Given the description of an element on the screen output the (x, y) to click on. 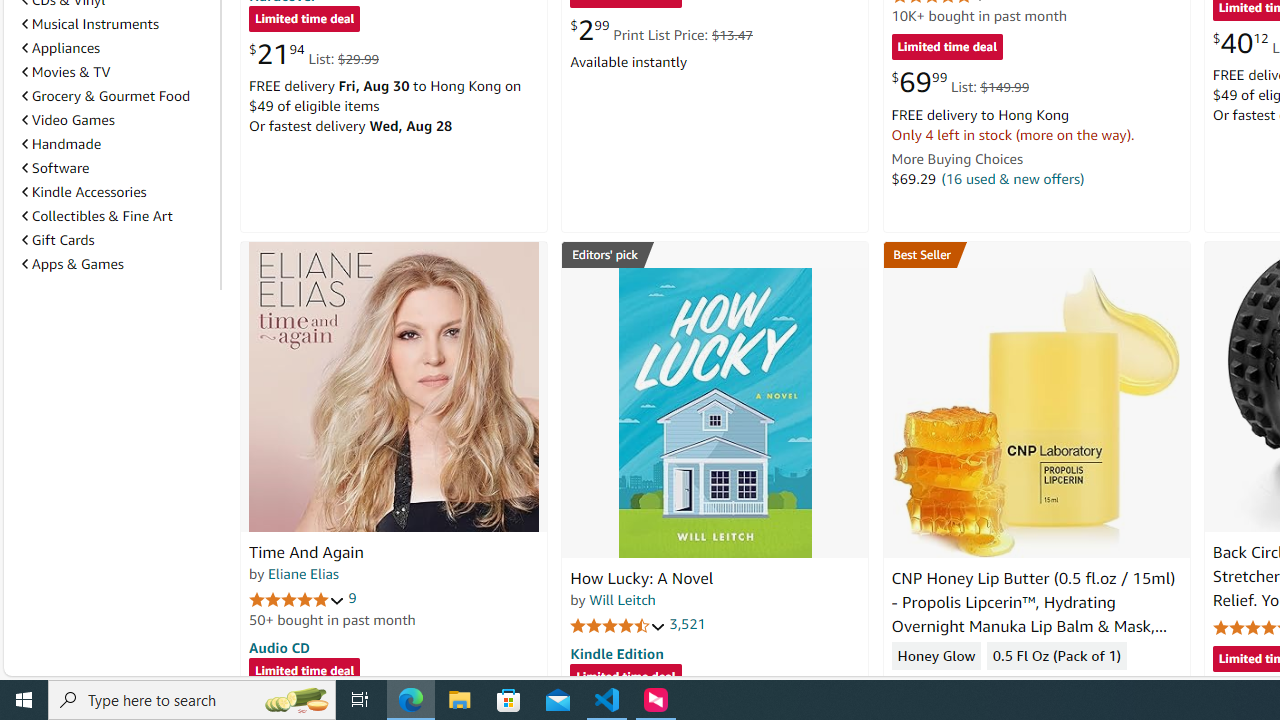
Time And Again (393, 386)
Limited time deal (625, 678)
Eliane Elias (303, 573)
Movies & TV (66, 71)
Appliances (117, 48)
$2.99 Print List Price: $13.47 (660, 30)
How Lucky: A Novel (641, 578)
Collectibles & Fine Art (96, 215)
Software (55, 168)
Time And Again (306, 552)
Appliances (61, 47)
Apps & Games (72, 263)
Software (117, 167)
5.0 out of 5 stars (297, 598)
How Lucky: A Novel (714, 412)
